Given the description of an element on the screen output the (x, y) to click on. 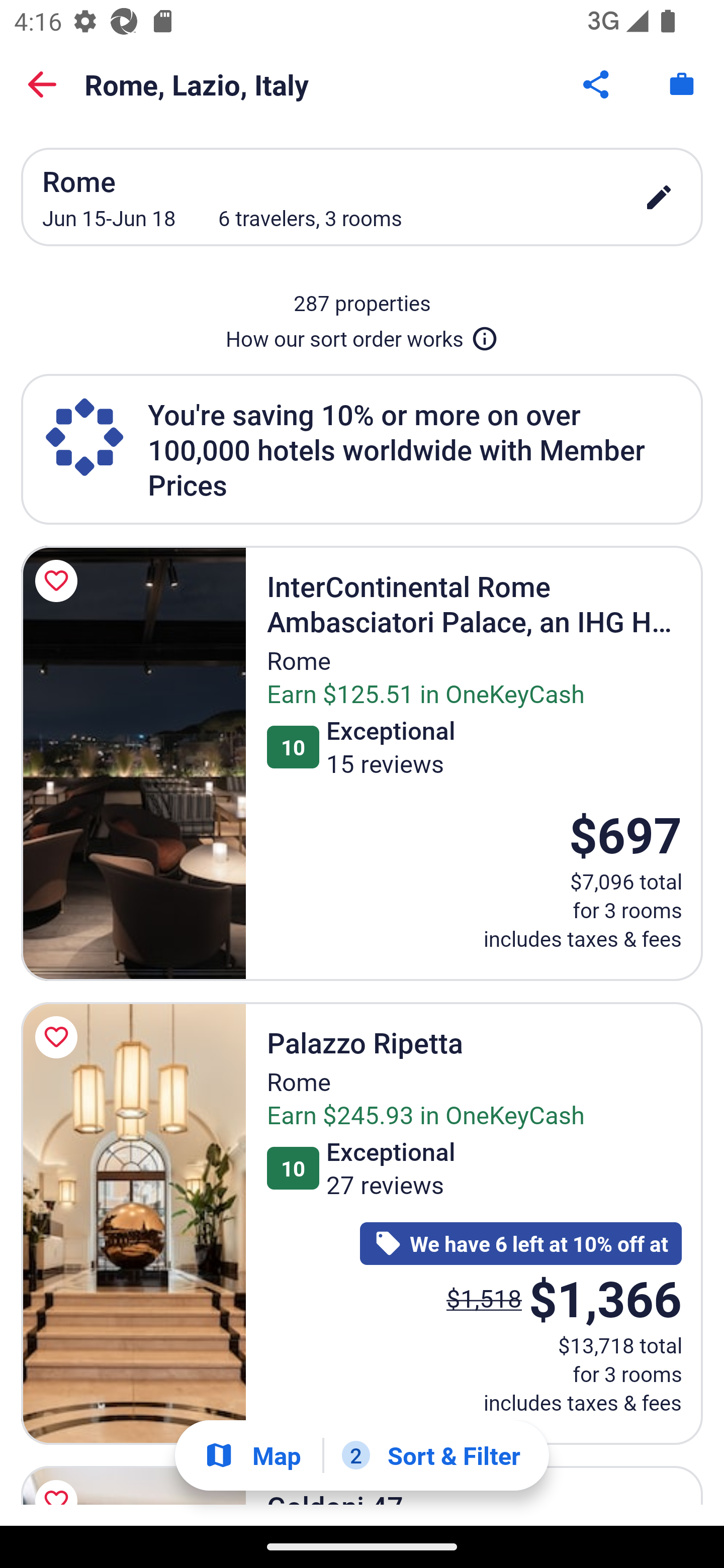
Back (42, 84)
Share Button (597, 84)
Trips. Button (681, 84)
Rome Jun 15-Jun 18 6 travelers, 3 rooms edit (361, 196)
How our sort order works (361, 334)
Save Palazzo Ripetta to a trip (59, 1036)
Palazzo Ripetta (133, 1222)
$1,518 The price was $1,518 (483, 1297)
2 Sort & Filter 2 Filters applied. Filters Button (430, 1455)
Show map Map Show map Button (252, 1455)
Save Goldoni 47 to a trip (59, 1481)
